Given the description of an element on the screen output the (x, y) to click on. 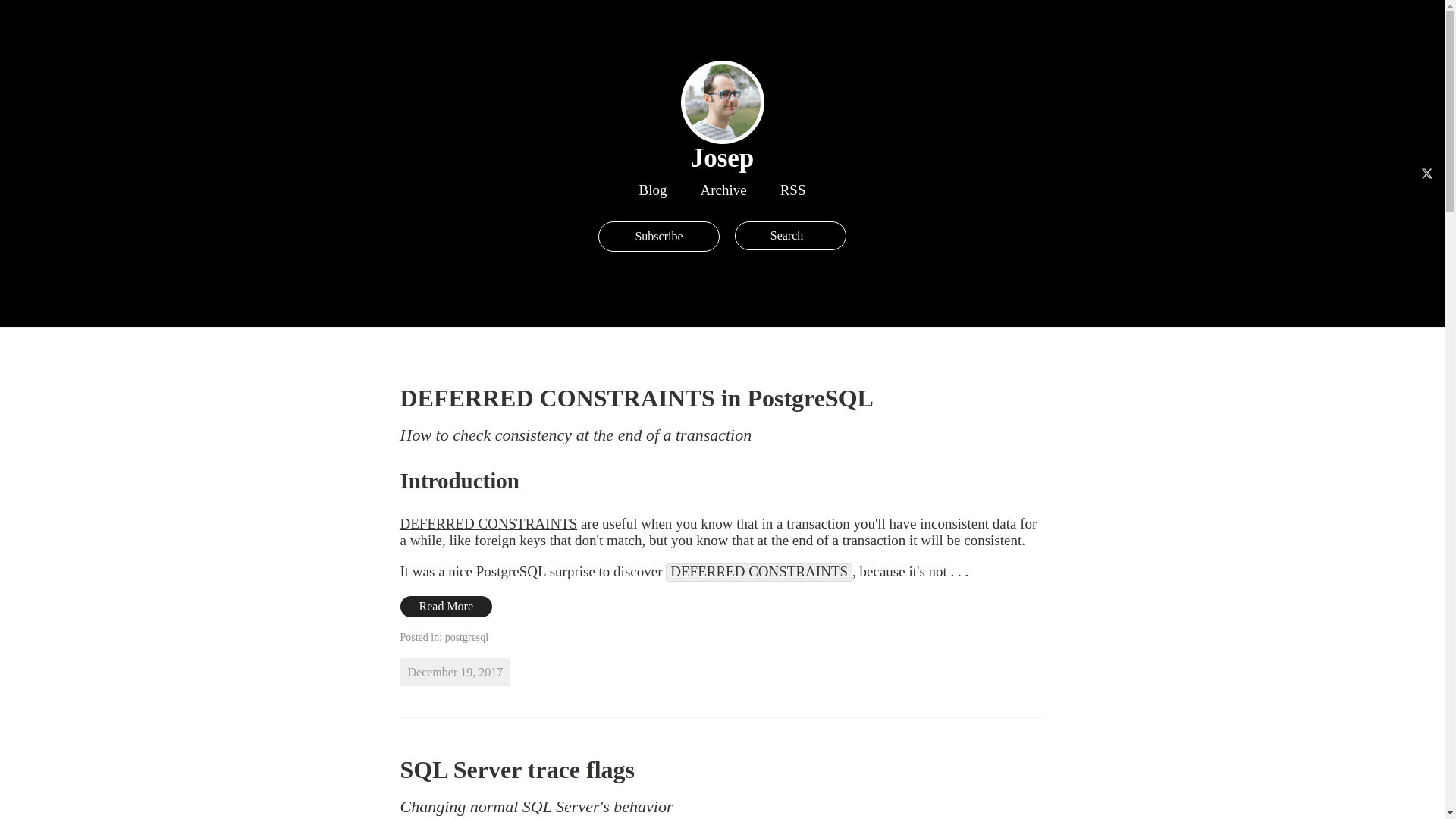
postgresql (467, 637)
Subscribe (658, 236)
Blog (652, 189)
DEFERRED CONSTRAINTS (489, 523)
SQL Server trace flags (517, 768)
Archive (722, 189)
DEFERRED CONSTRAINTS in PostgreSQL (636, 397)
Read More (446, 606)
RSS (793, 189)
